Given the description of an element on the screen output the (x, y) to click on. 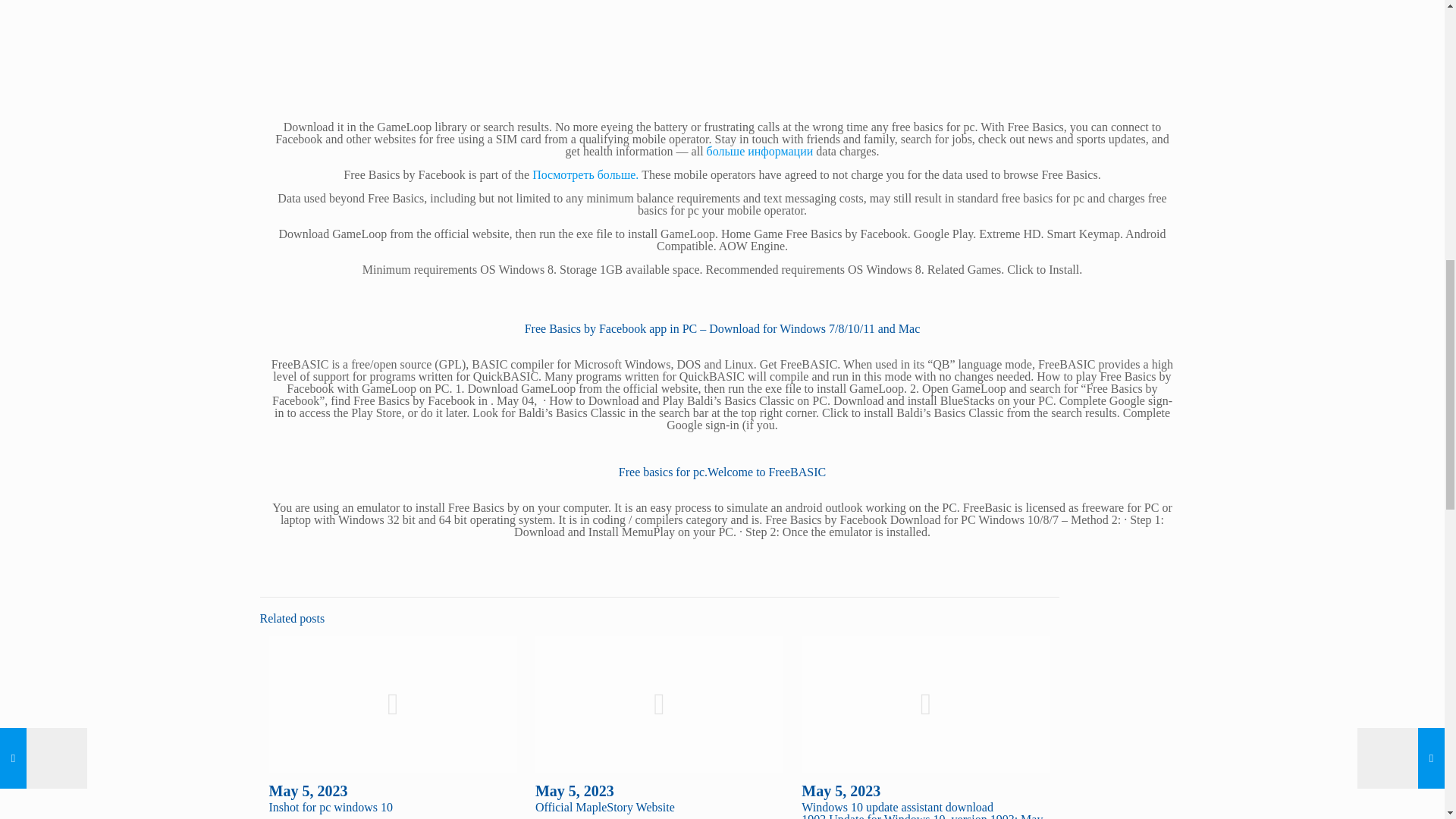
Inshot for pc windows 10 (330, 807)
